Given the description of an element on the screen output the (x, y) to click on. 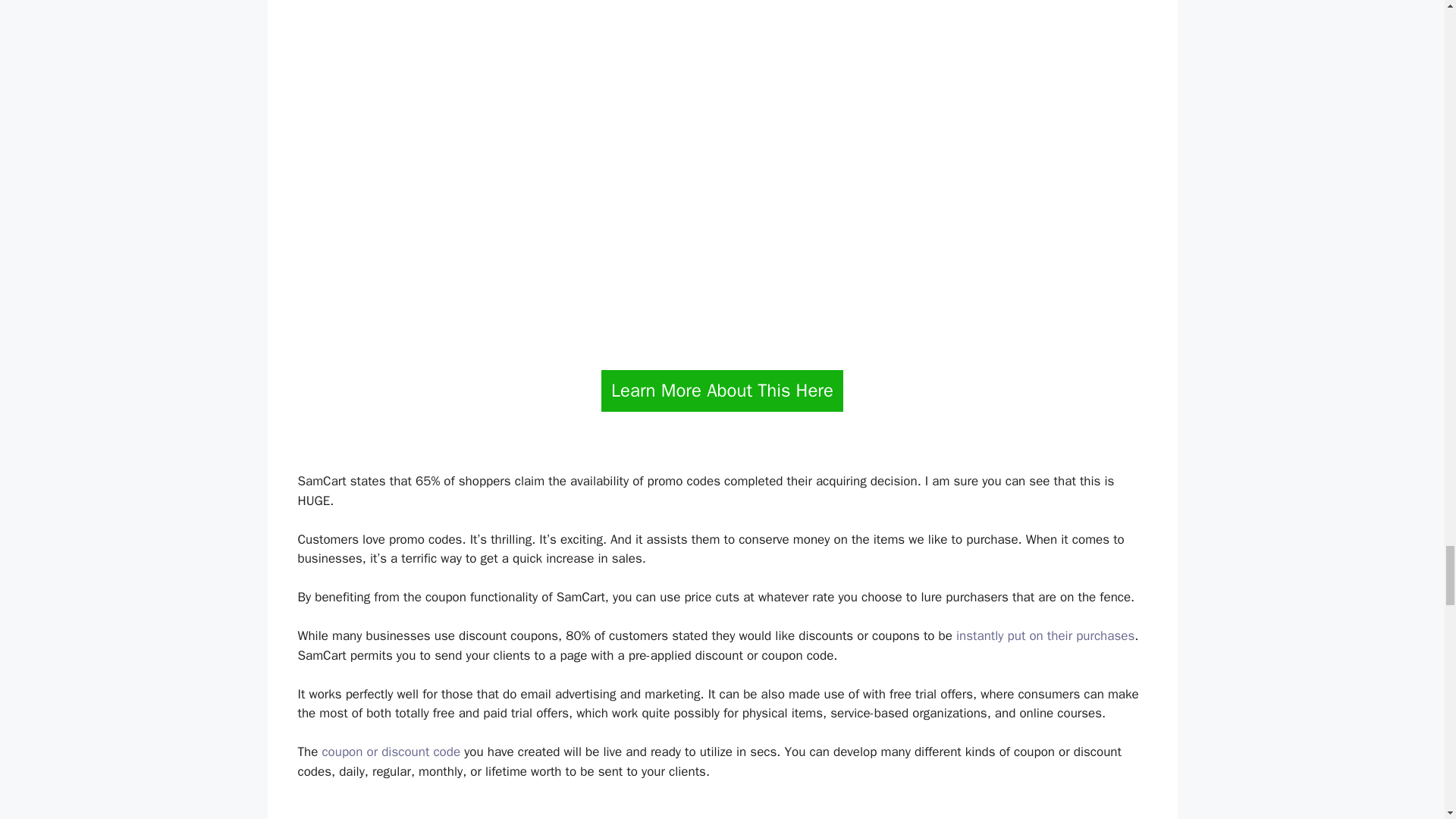
coupon or discount code (390, 751)
Learn More About This Here (722, 390)
instantly put on their purchases (1045, 635)
